Given the description of an element on the screen output the (x, y) to click on. 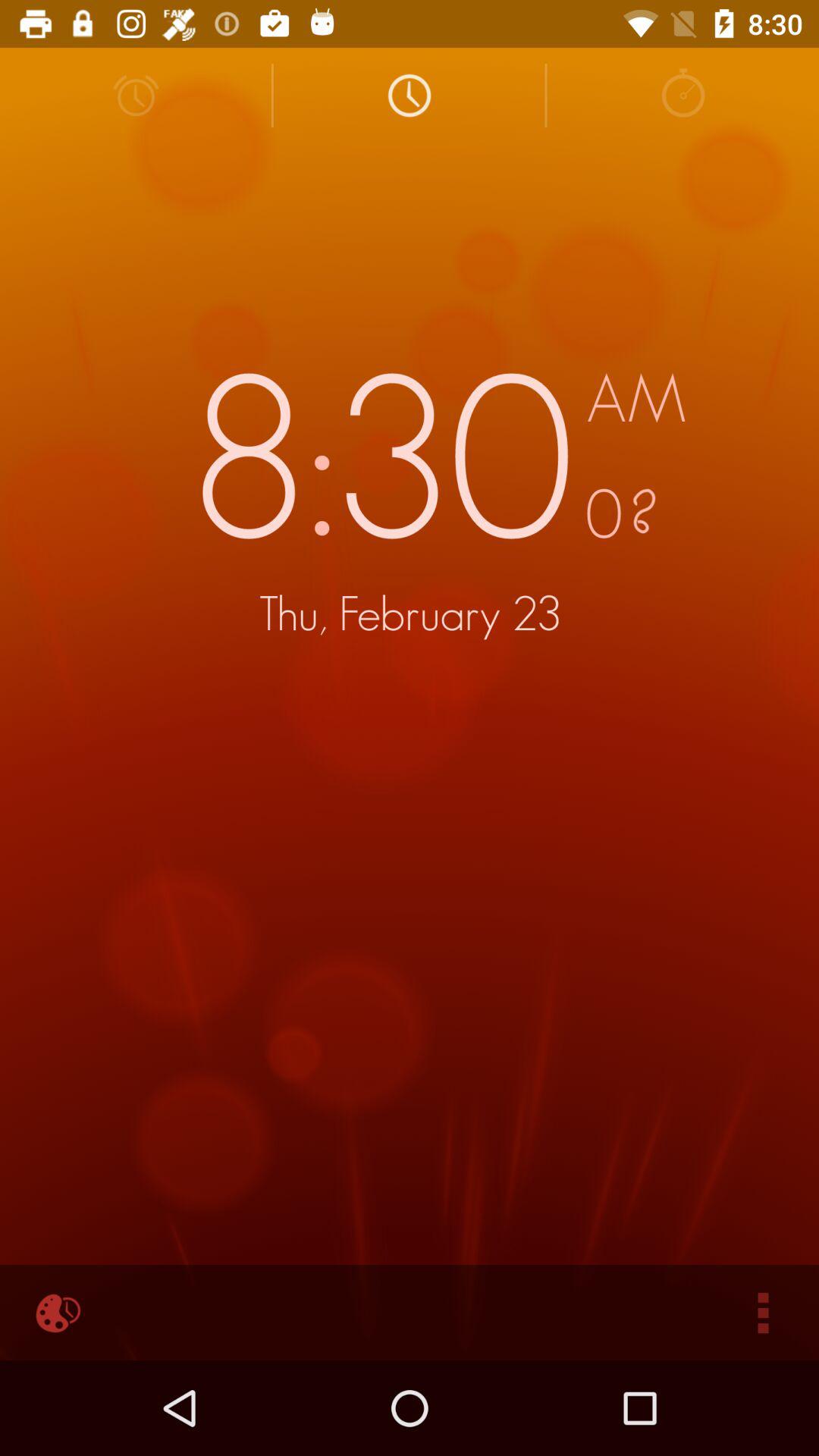
this will allow you to change the background color (55, 1312)
